Given the description of an element on the screen output the (x, y) to click on. 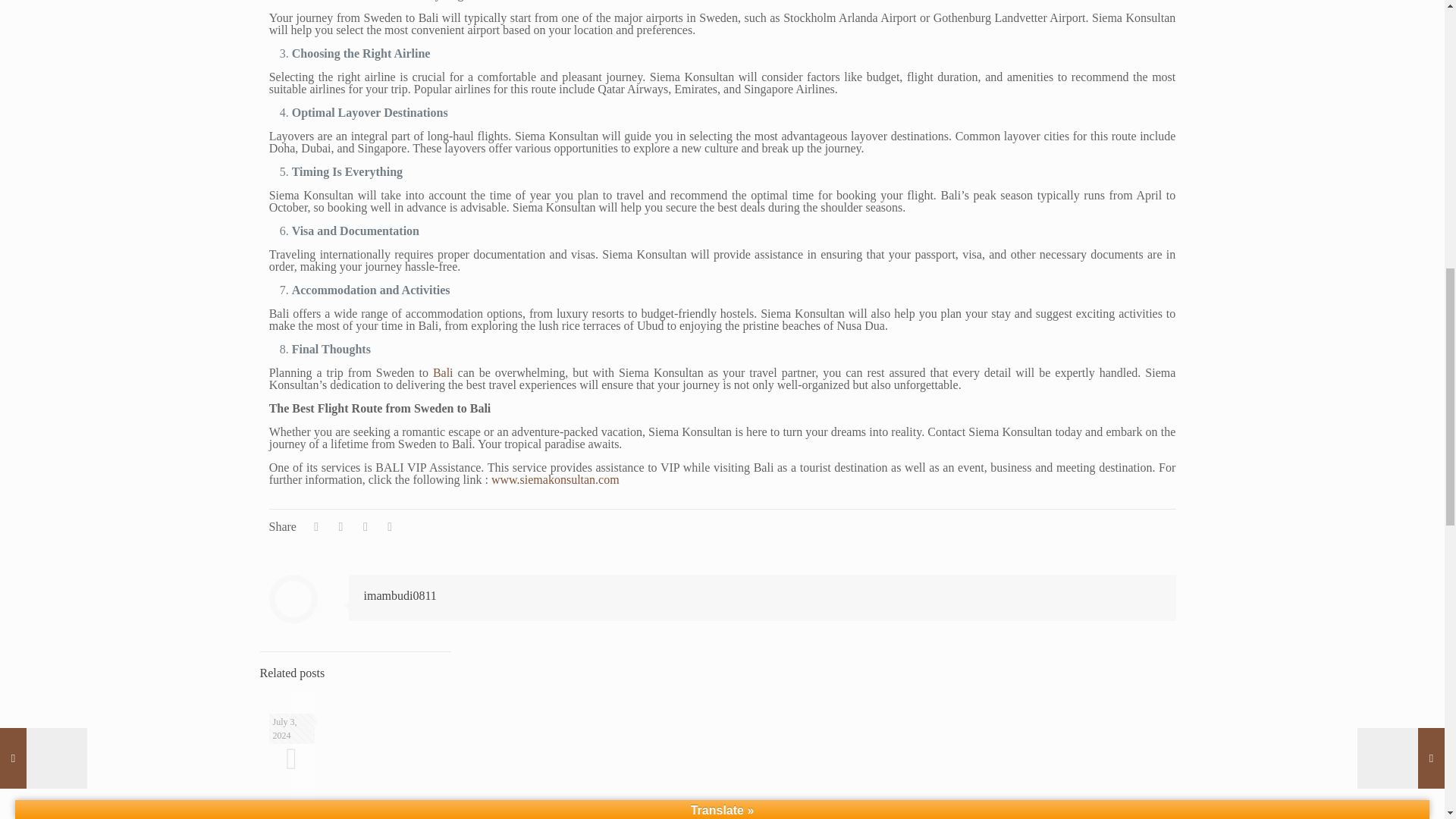
imambudi0811 (400, 594)
Bali (442, 372)
www.siemakonsultan.com (556, 479)
